Given the description of an element on the screen output the (x, y) to click on. 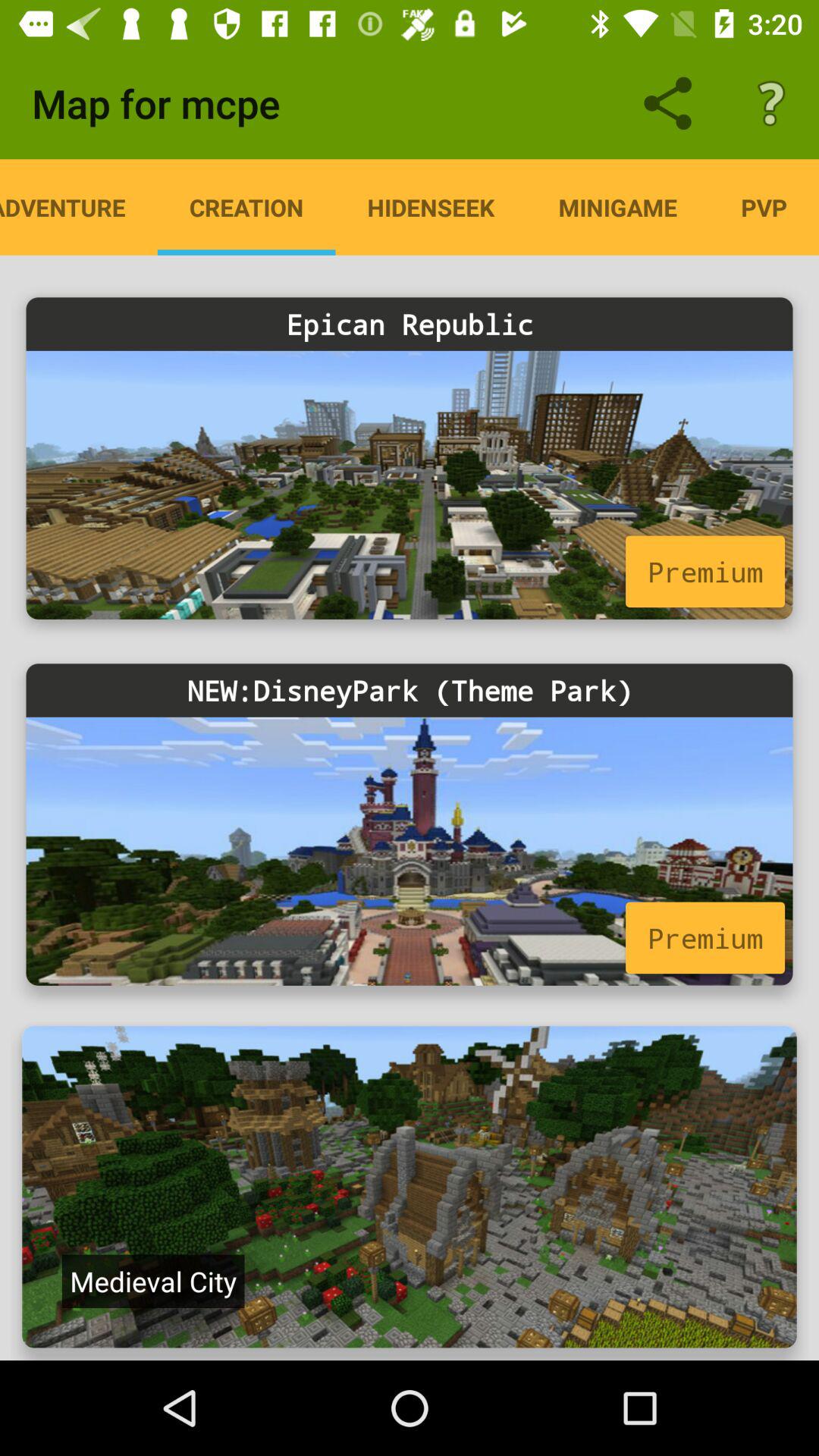
select new disneypark theme park (409, 851)
